Given the description of an element on the screen output the (x, y) to click on. 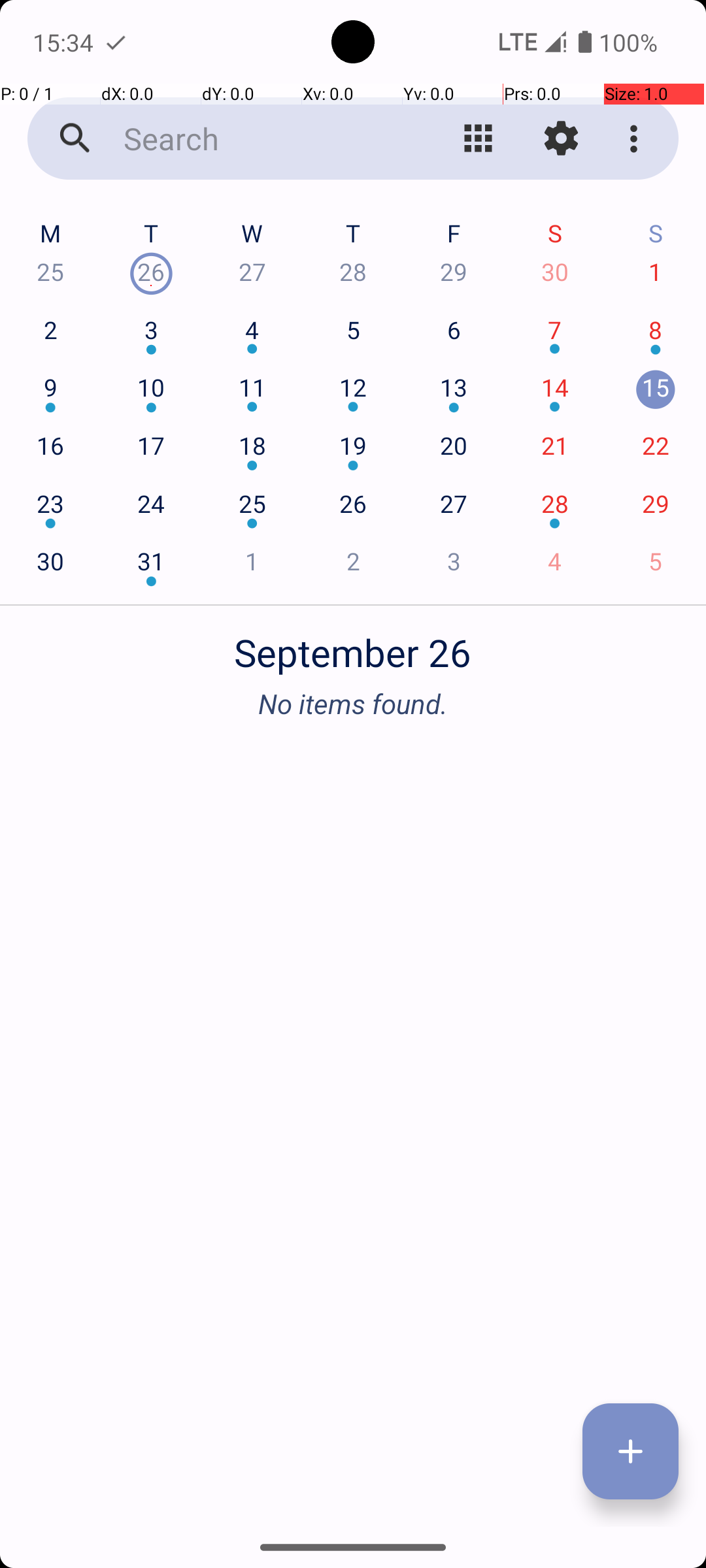
September 26 Element type: android.widget.TextView (352, 644)
